Given the description of an element on the screen output the (x, y) to click on. 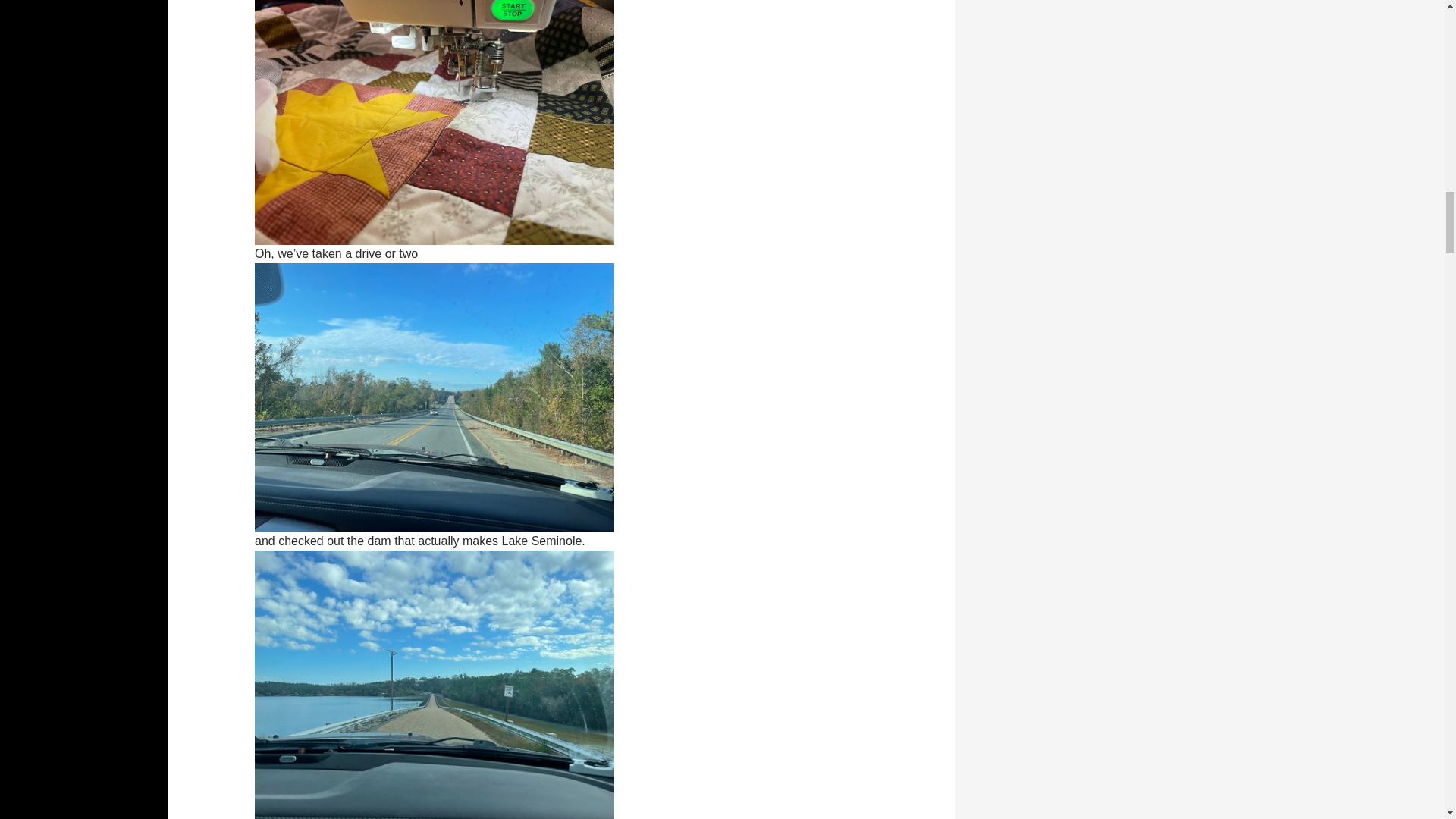
Untitled (434, 108)
Untitled (434, 396)
Untitled (434, 684)
